Given the description of an element on the screen output the (x, y) to click on. 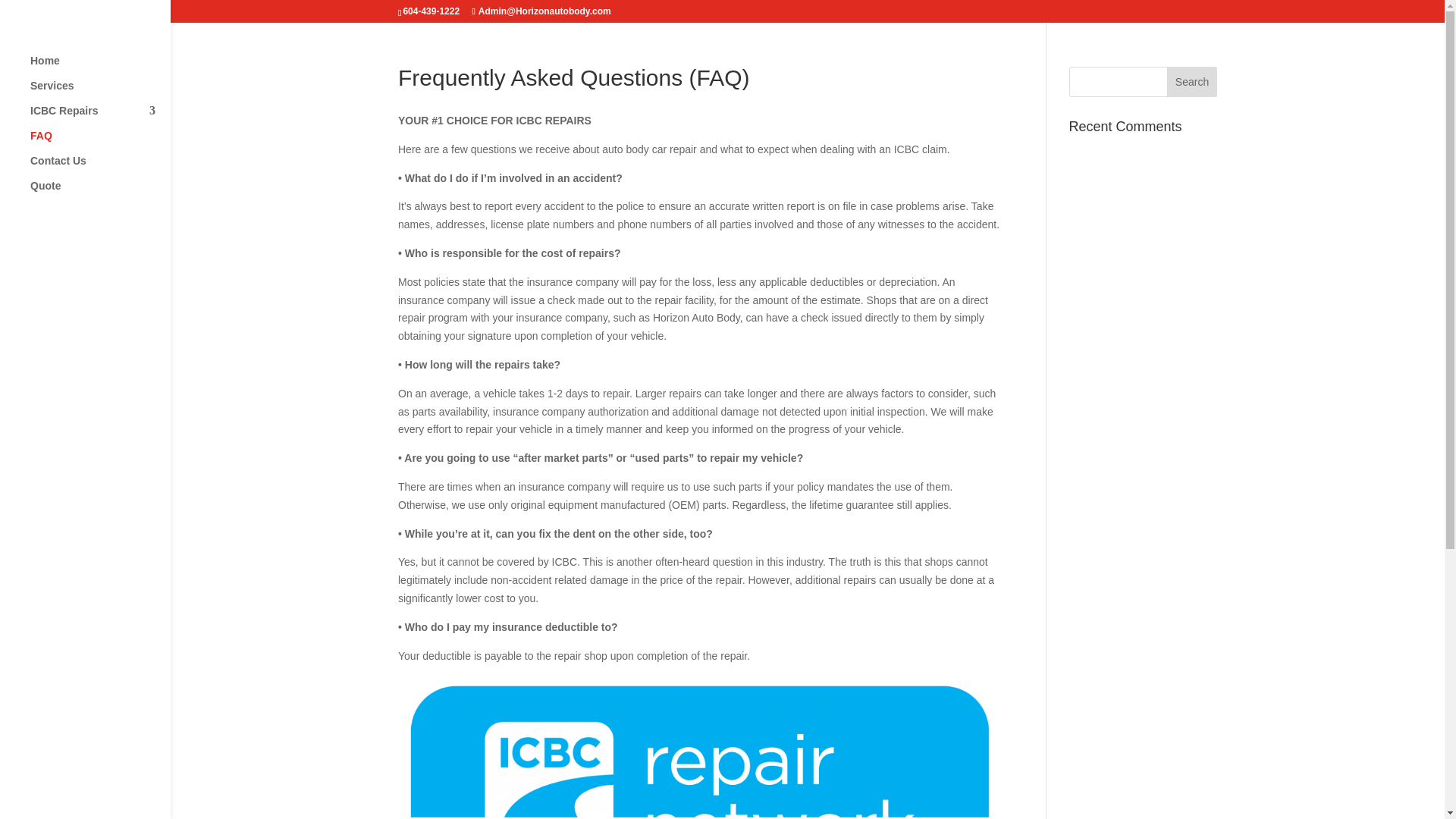
Search (1192, 81)
Home (100, 67)
Quote (100, 192)
604-439-1222 (431, 10)
Services (100, 92)
FAQ (100, 142)
Contact Us (100, 167)
ICBC Repairs (100, 117)
Search (1192, 81)
